Given the description of an element on the screen output the (x, y) to click on. 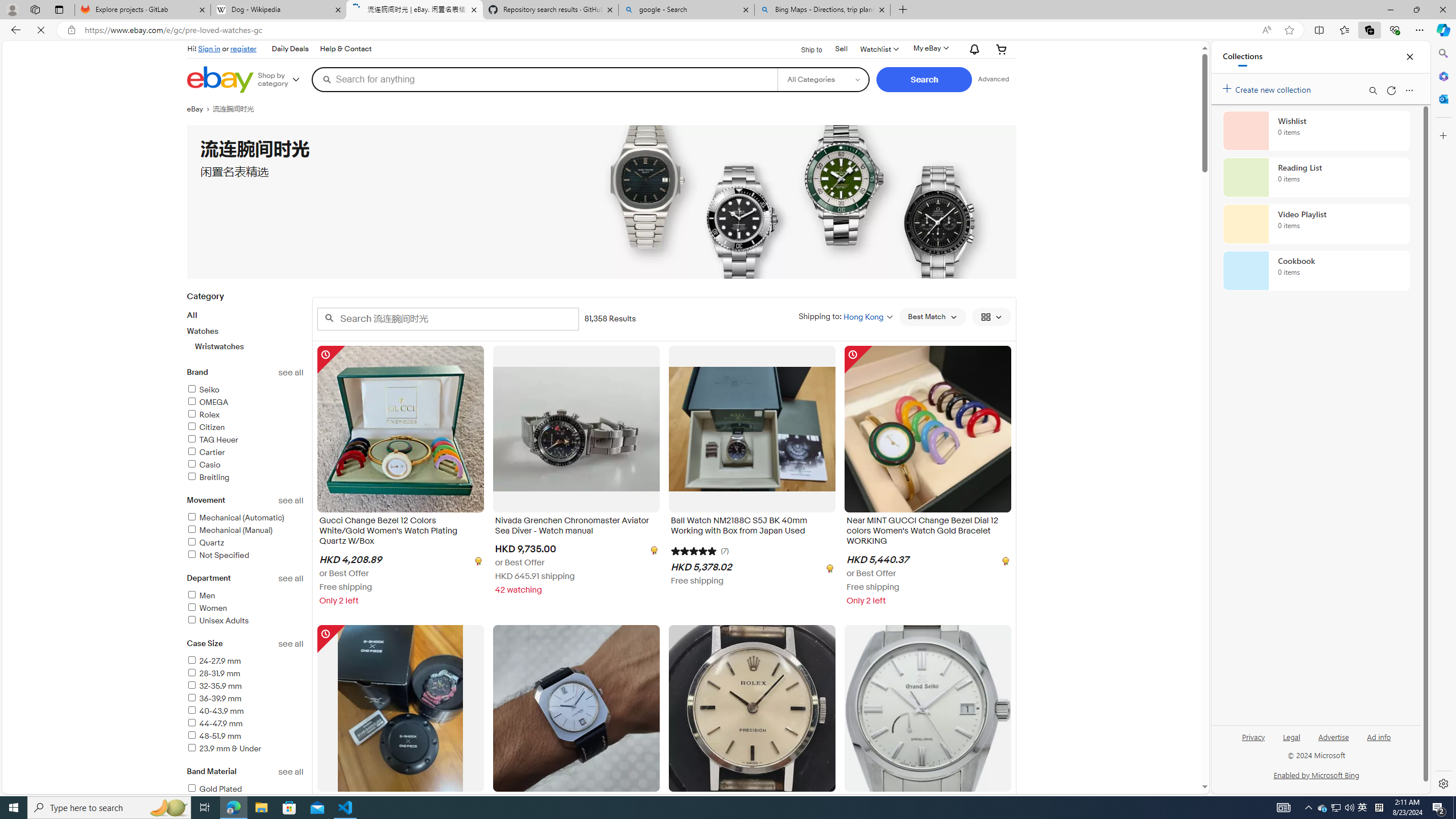
Select a category for search (823, 78)
Expand Cart (1001, 48)
eBay Home (219, 79)
[object Undefined] (1004, 560)
Dog - Wikipedia (277, 9)
Notifications (971, 49)
Ship to (804, 49)
Search for anything (544, 78)
